Given the description of an element on the screen output the (x, y) to click on. 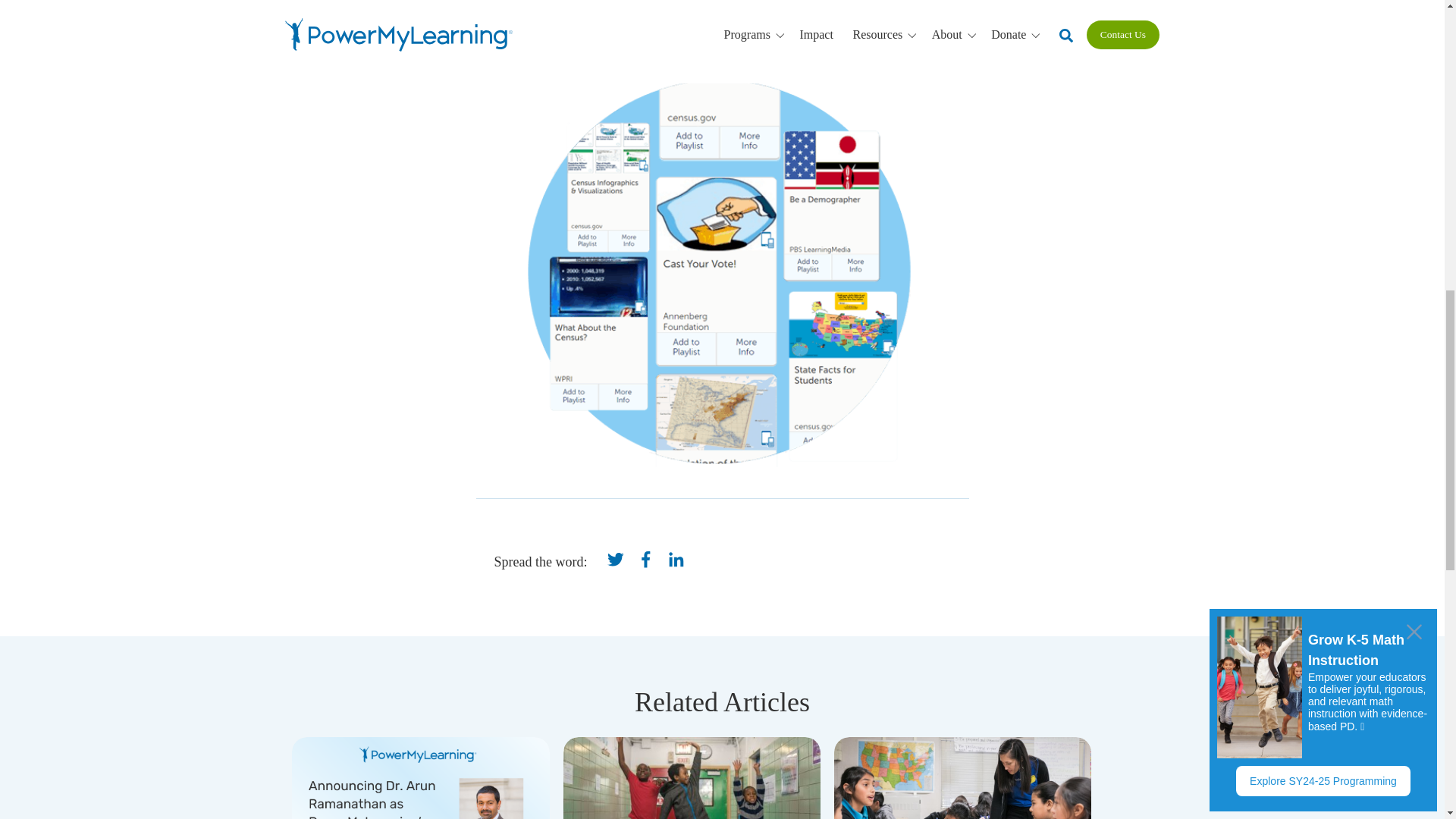
Share this blog post on Facebook (645, 559)
Share this blog post on Facebook (645, 561)
Share this blog post on Twitter (614, 561)
Share this blog post on LinkedIn (676, 559)
Share this blog post on LinkedIn (676, 561)
Share this blog post on Twitter (615, 559)
